Given the description of an element on the screen output the (x, y) to click on. 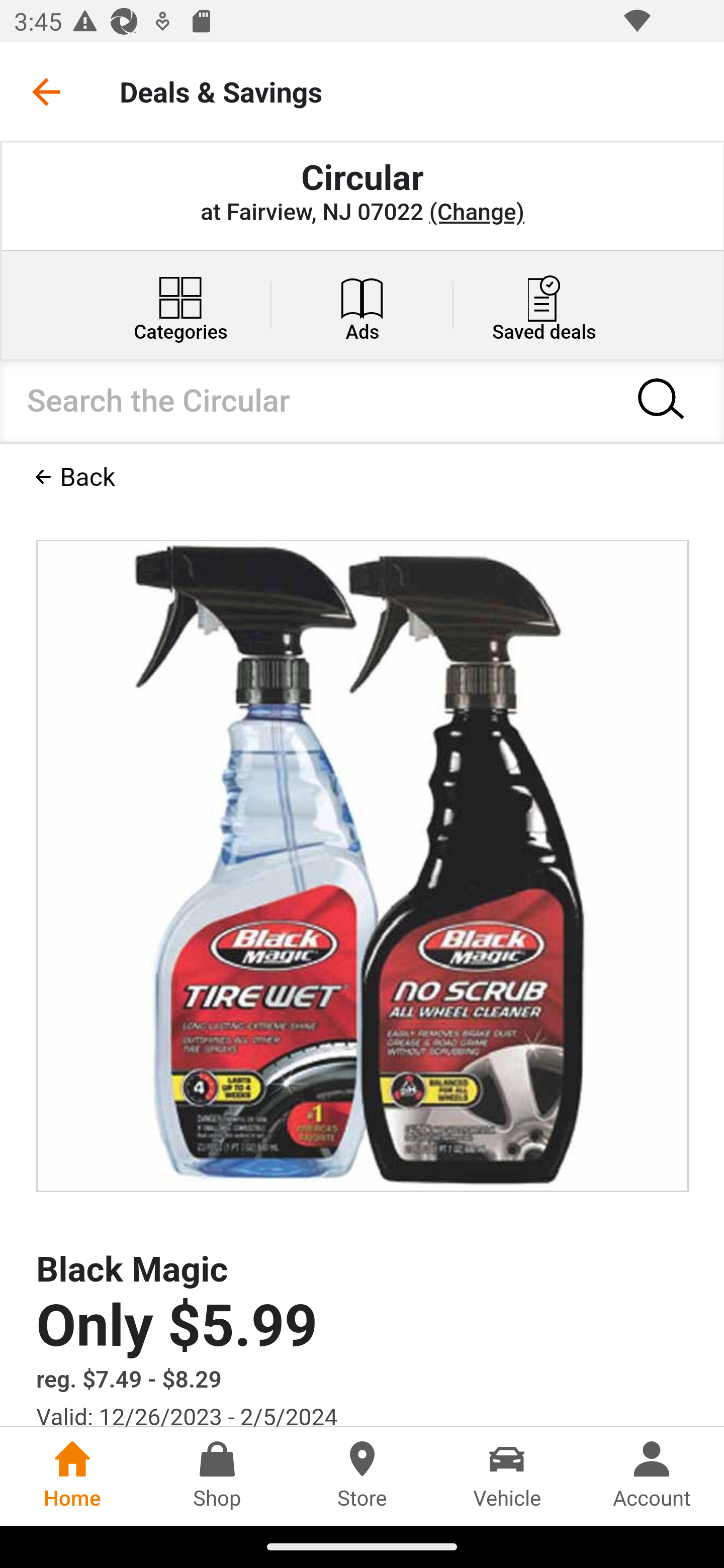
Go back (45, 91)
(Change) (475, 213)
Categories (180, 304)
Ads (361, 304)
Saved deals (544, 304)
Back (78, 476)
Home (72, 1475)
Shop (216, 1475)
Store (361, 1475)
Vehicle (506, 1475)
Account (651, 1475)
